Given the description of an element on the screen output the (x, y) to click on. 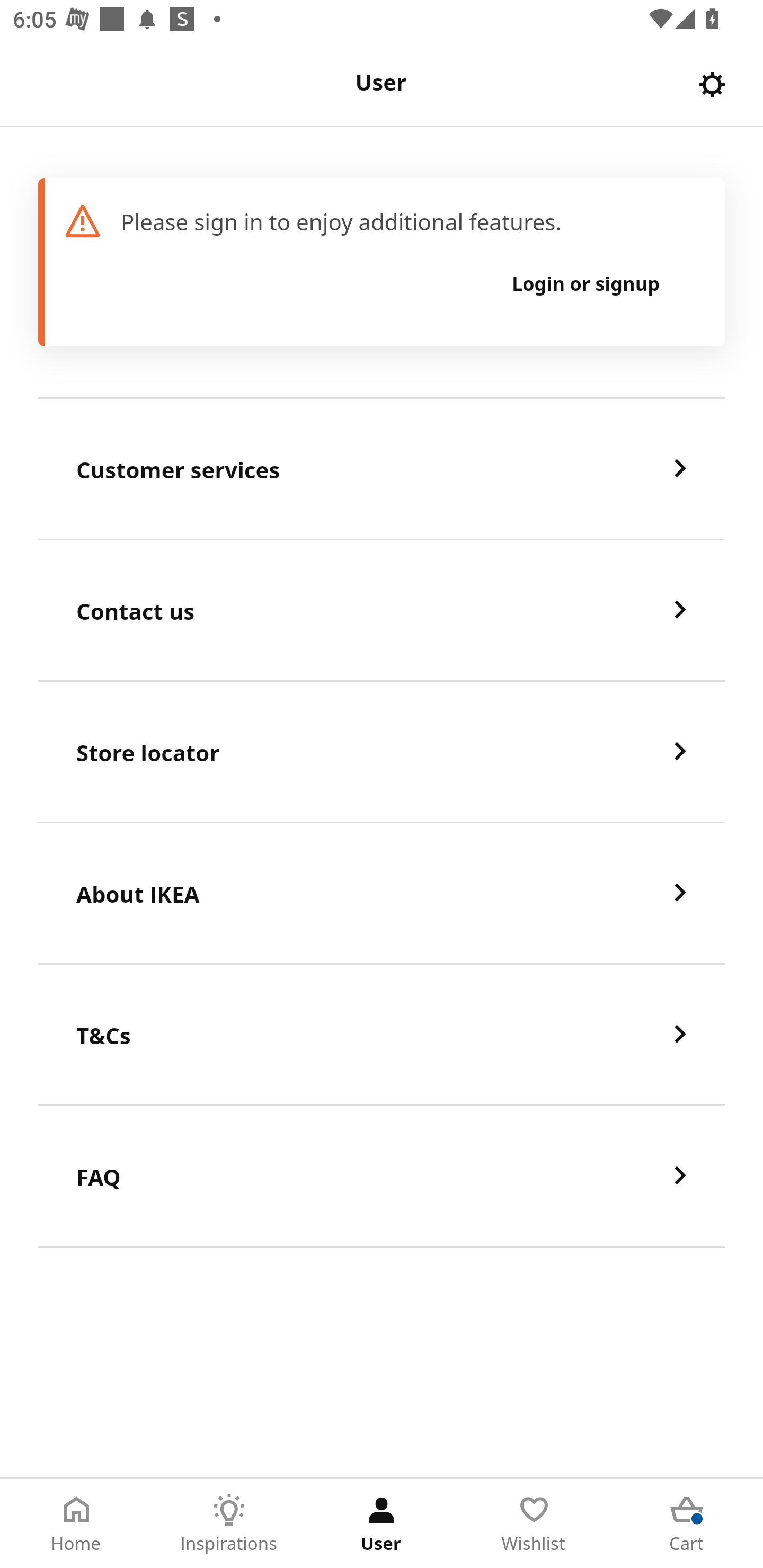
Login or signup (586, 282)
Customer services (381, 469)
Contact us (381, 611)
Store locator (381, 752)
About IKEA (381, 893)
T&Cs (381, 1034)
FAQ (381, 1176)
Home
Tab 1 of 5 (76, 1522)
Inspirations
Tab 2 of 5 (228, 1522)
User
Tab 3 of 5 (381, 1522)
Wishlist
Tab 4 of 5 (533, 1522)
Cart
Tab 5 of 5 (686, 1522)
